Given the description of an element on the screen output the (x, y) to click on. 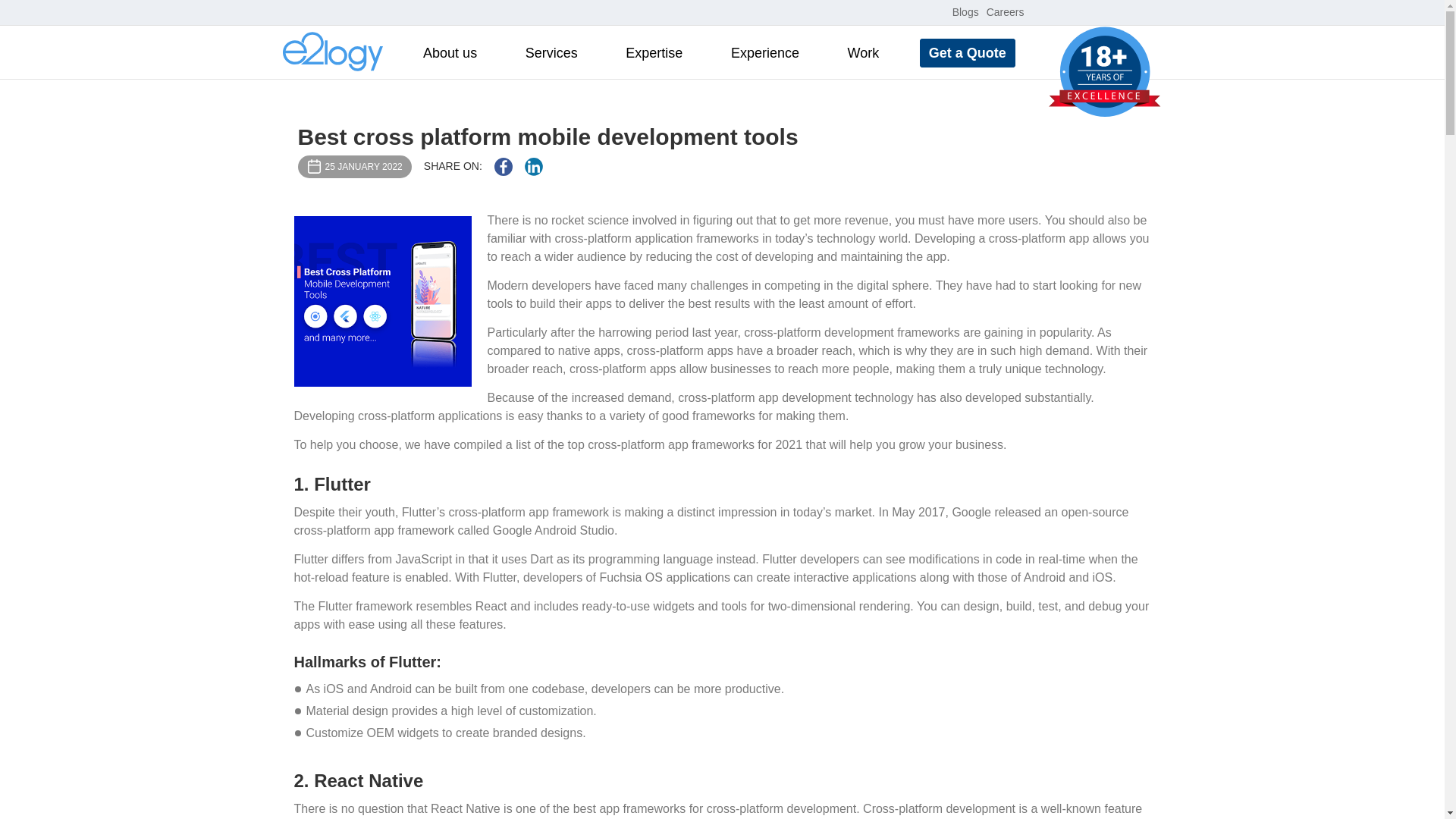
Experience (764, 52)
Expertise (653, 52)
Careers (1006, 11)
Blogs (965, 11)
About us (449, 52)
Get a Quote (967, 52)
Work (863, 52)
Services (551, 52)
